Given the description of an element on the screen output the (x, y) to click on. 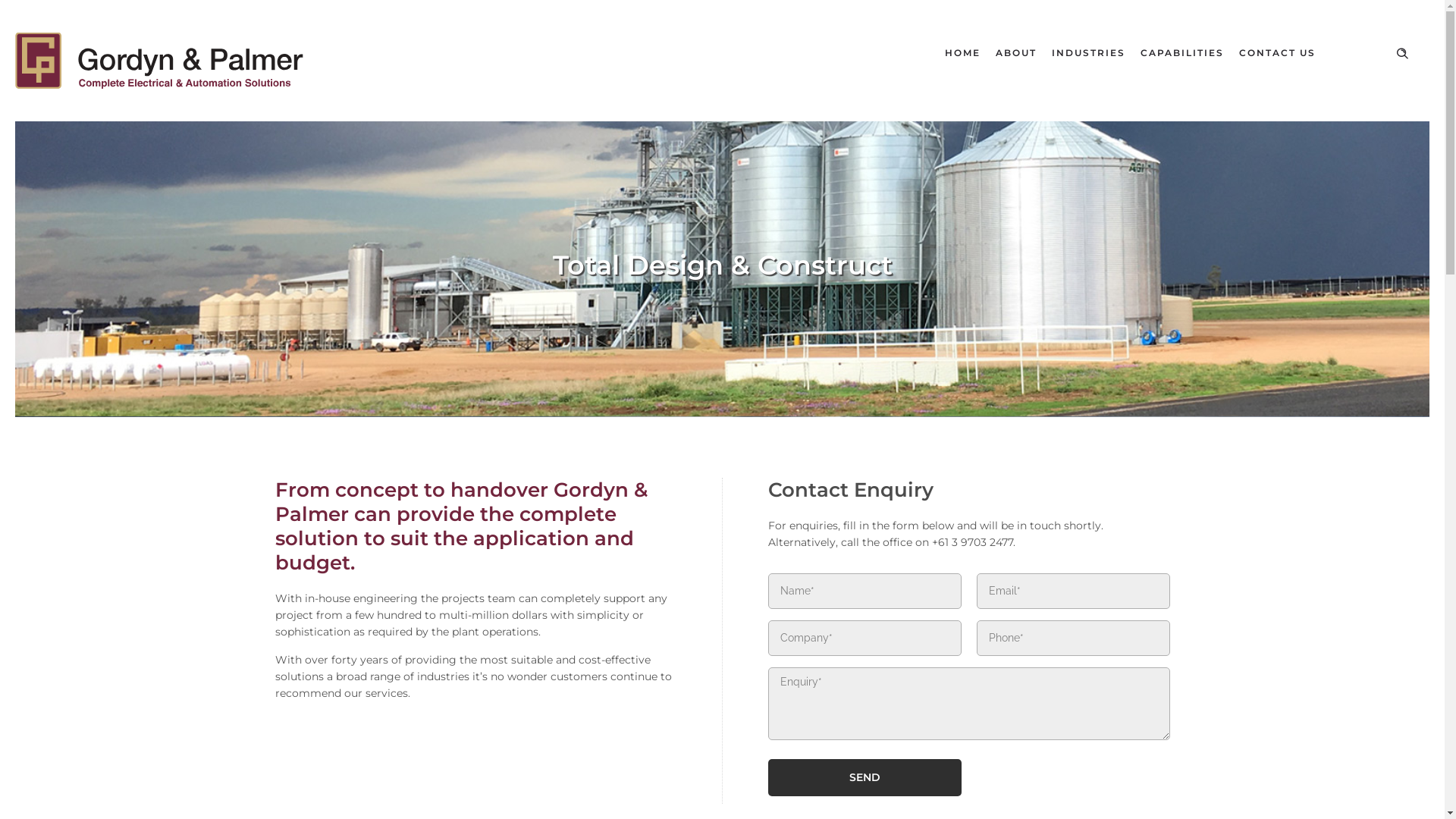
CAPABILITIES Element type: text (1181, 53)
CONTACT US Element type: text (1277, 53)
INDUSTRIES Element type: text (1088, 53)
HOME Element type: text (962, 53)
Send Element type: text (863, 777)
ABOUT Element type: text (1016, 53)
